Given the description of an element on the screen output the (x, y) to click on. 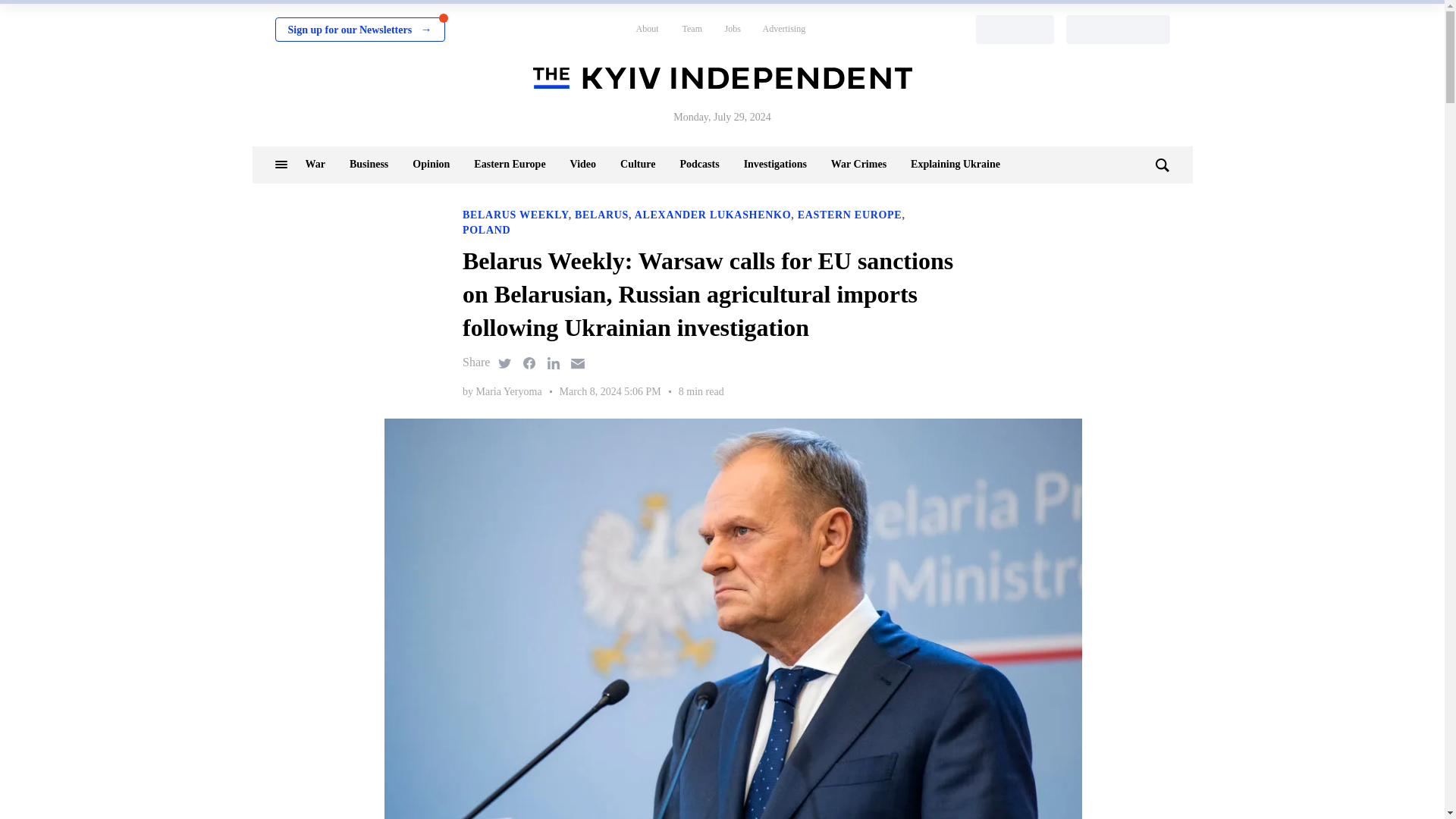
Jobs (733, 28)
War Crimes (858, 163)
About (646, 28)
Culture (637, 163)
Team (691, 28)
War (314, 163)
Explaining Ukraine (955, 163)
Video (582, 163)
Eastern Europe (509, 163)
Opinion (430, 163)
Podcasts (699, 163)
Advertising (784, 28)
Business (368, 163)
Investigations (775, 163)
